Given the description of an element on the screen output the (x, y) to click on. 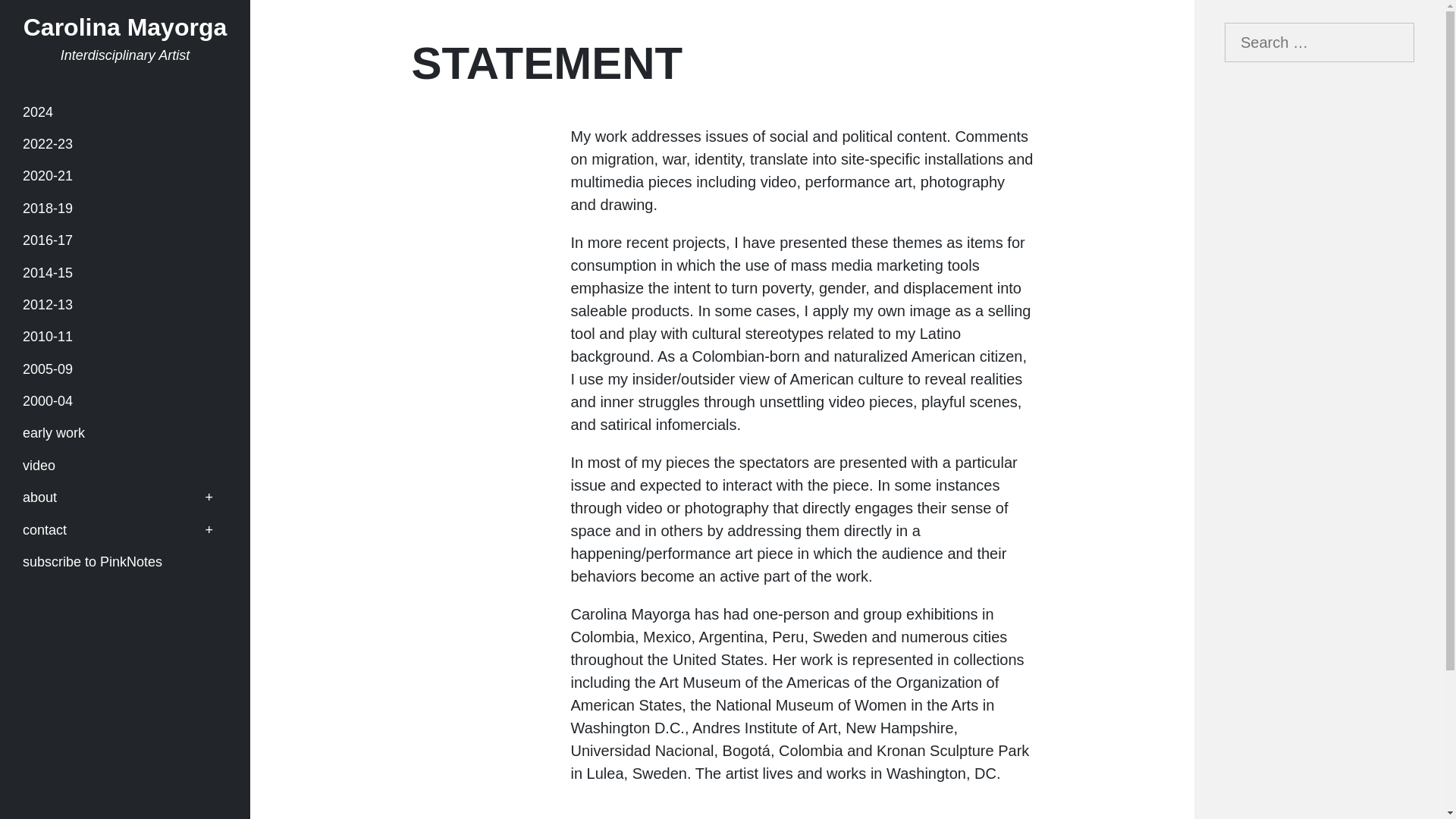
2000-04 (125, 400)
about (125, 497)
2022-23 (125, 143)
video (125, 465)
Search (32, 13)
2012-13 (125, 305)
contact (125, 529)
2018-19 (125, 208)
2016-17 (125, 240)
Carolina Mayorga (125, 26)
